Given the description of an element on the screen output the (x, y) to click on. 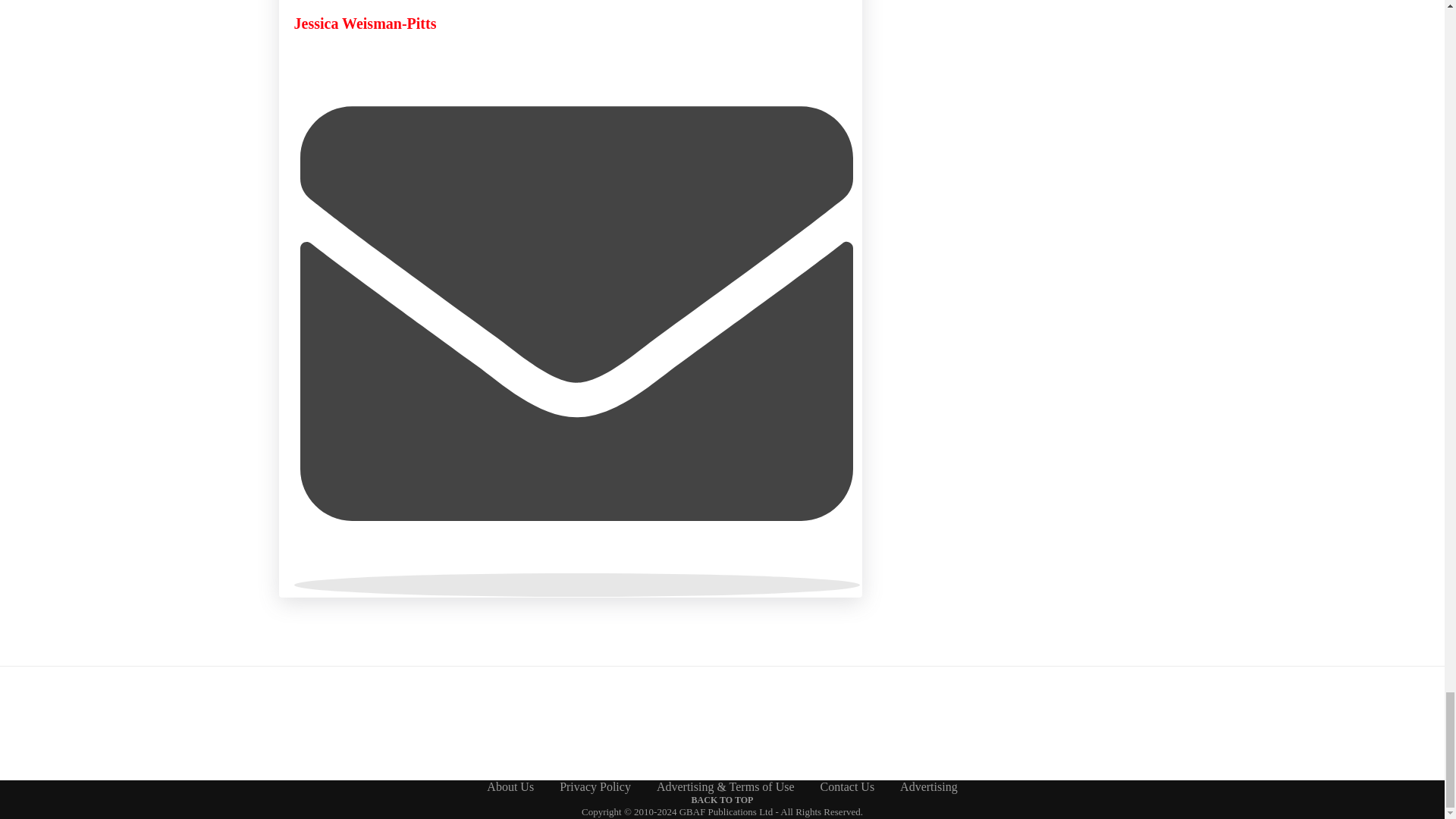
User email (577, 585)
